Given the description of an element on the screen output the (x, y) to click on. 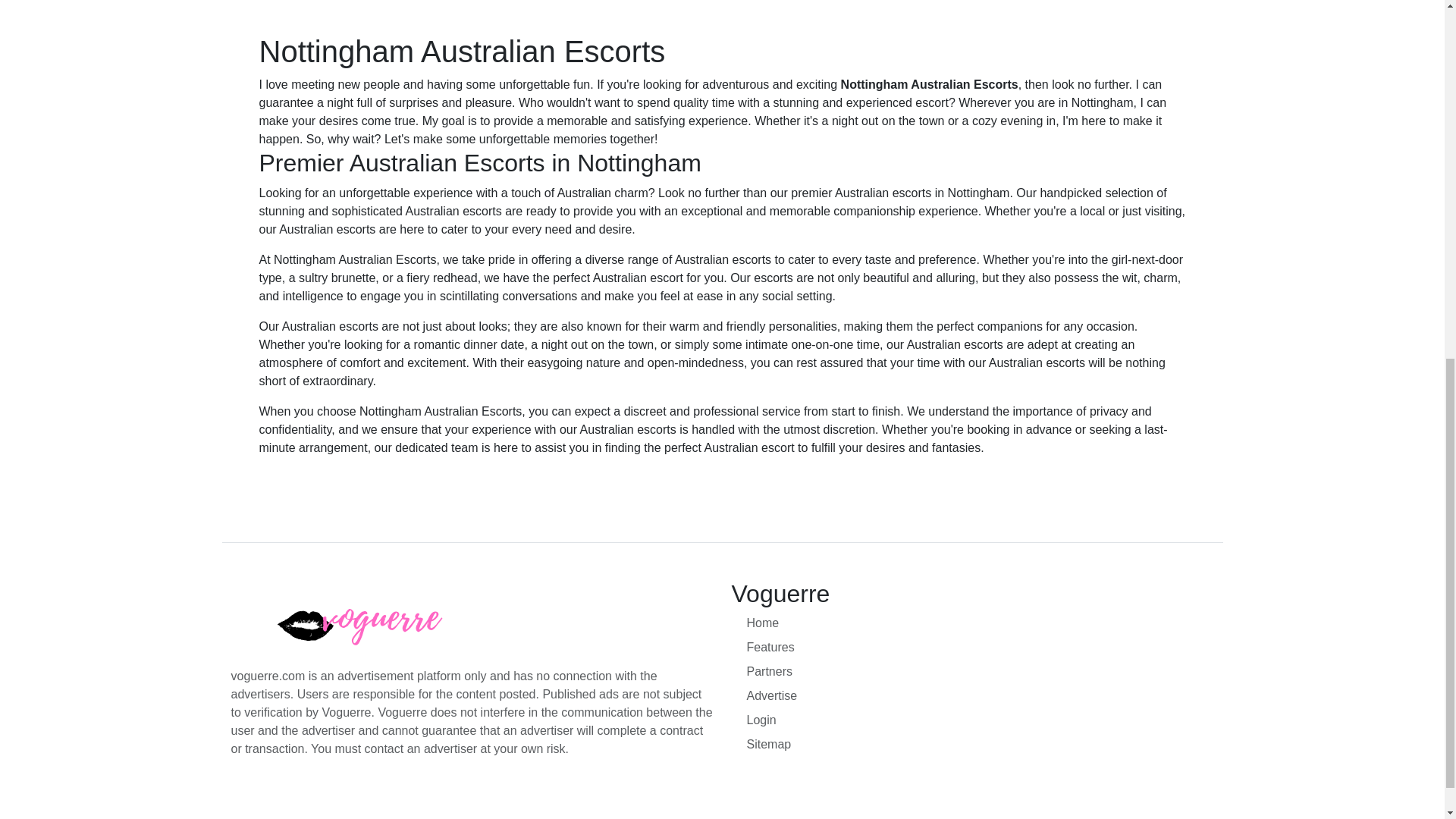
voguerre sitemap (978, 744)
